Given the description of an element on the screen output the (x, y) to click on. 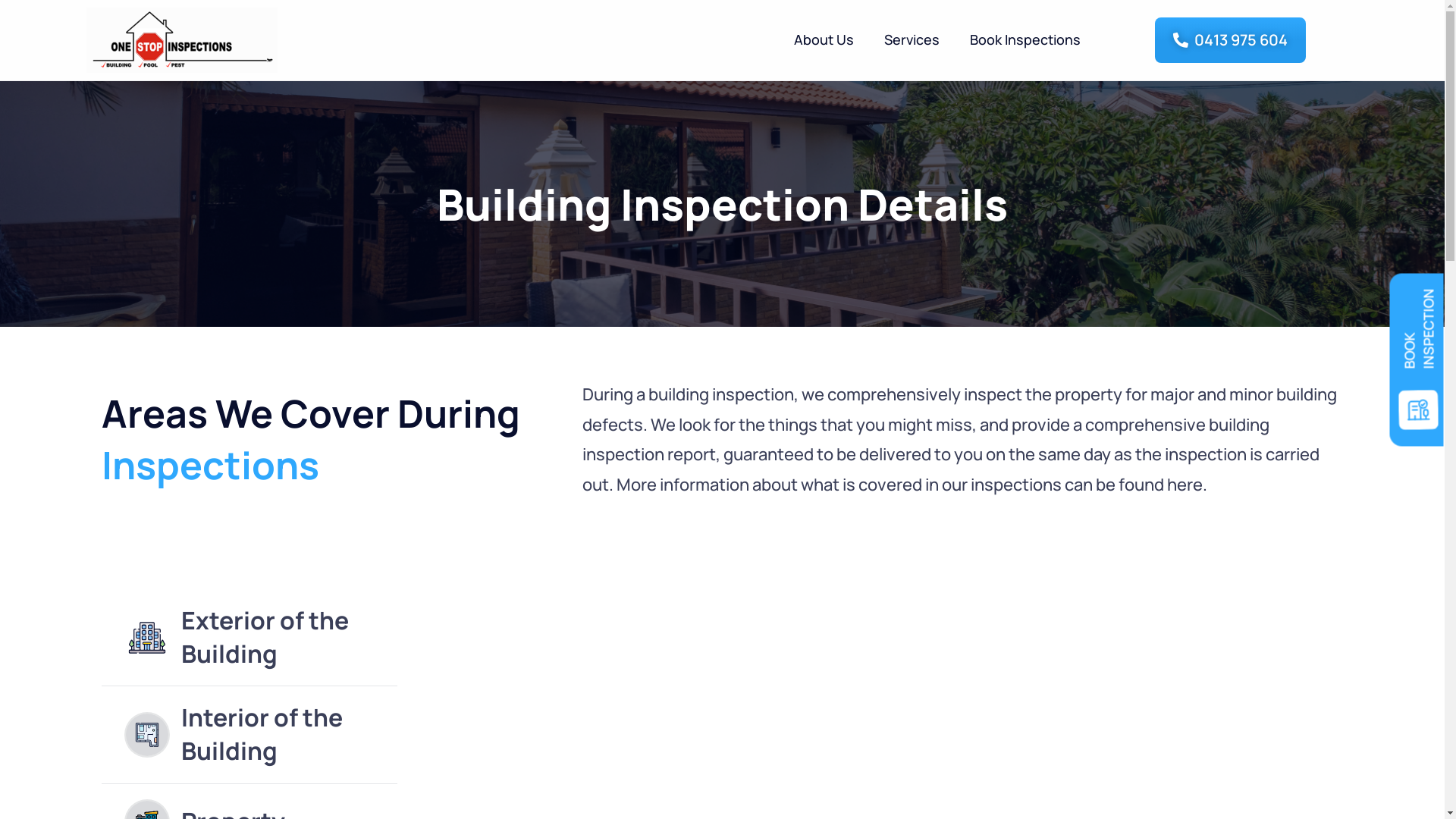
About Us Element type: text (823, 39)
Services Element type: text (911, 39)
Book Inspections Element type: text (1024, 39)
0413 975 604 Element type: text (1229, 39)
